Given the description of an element on the screen output the (x, y) to click on. 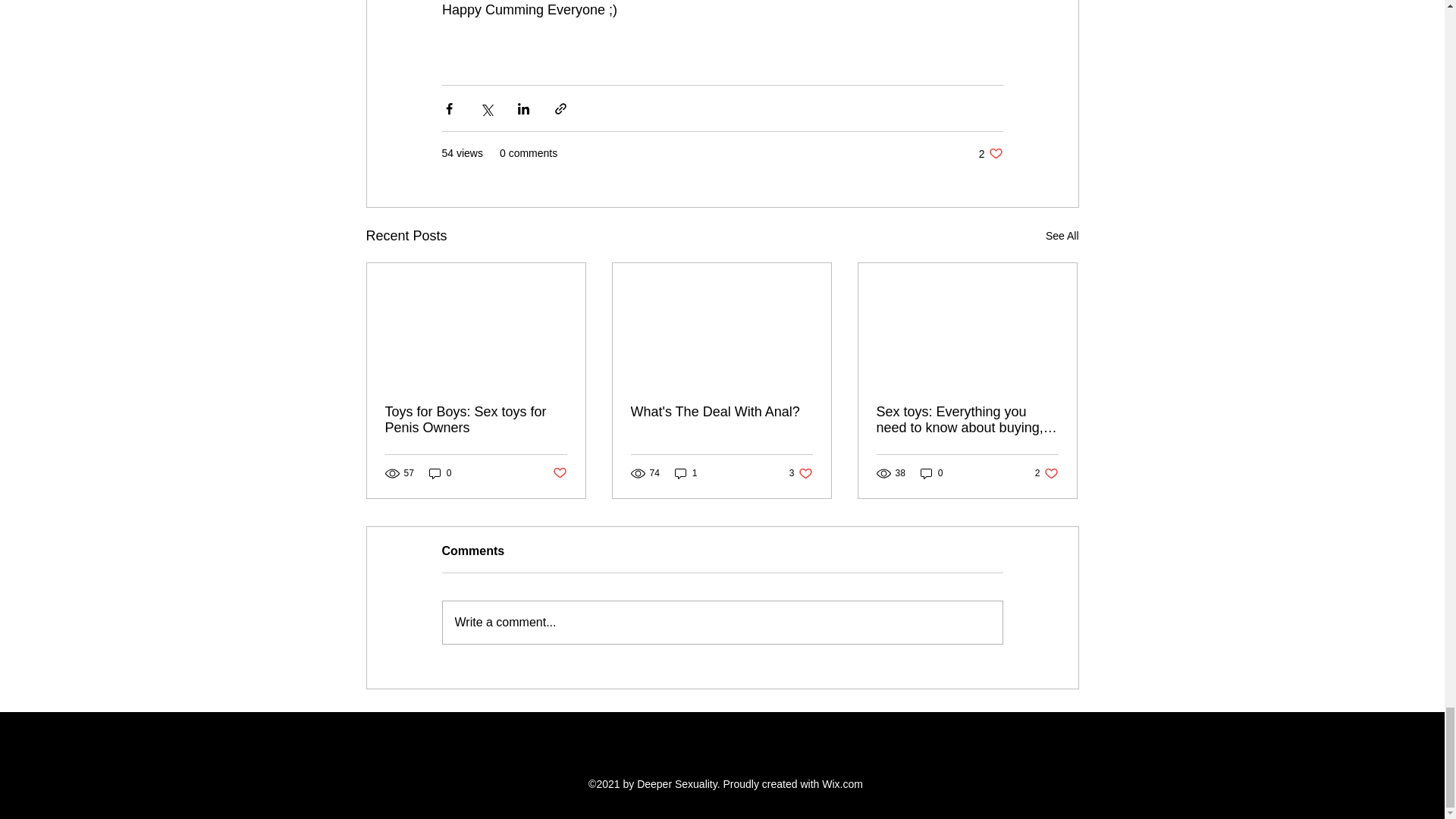
Post not marked as liked (558, 473)
What's The Deal With Anal? (800, 473)
See All (721, 412)
0 (1061, 236)
0 (990, 153)
Write a comment... (931, 473)
1 (440, 473)
Toys for Boys: Sex toys for Penis Owners (1046, 473)
